Given the description of an element on the screen output the (x, y) to click on. 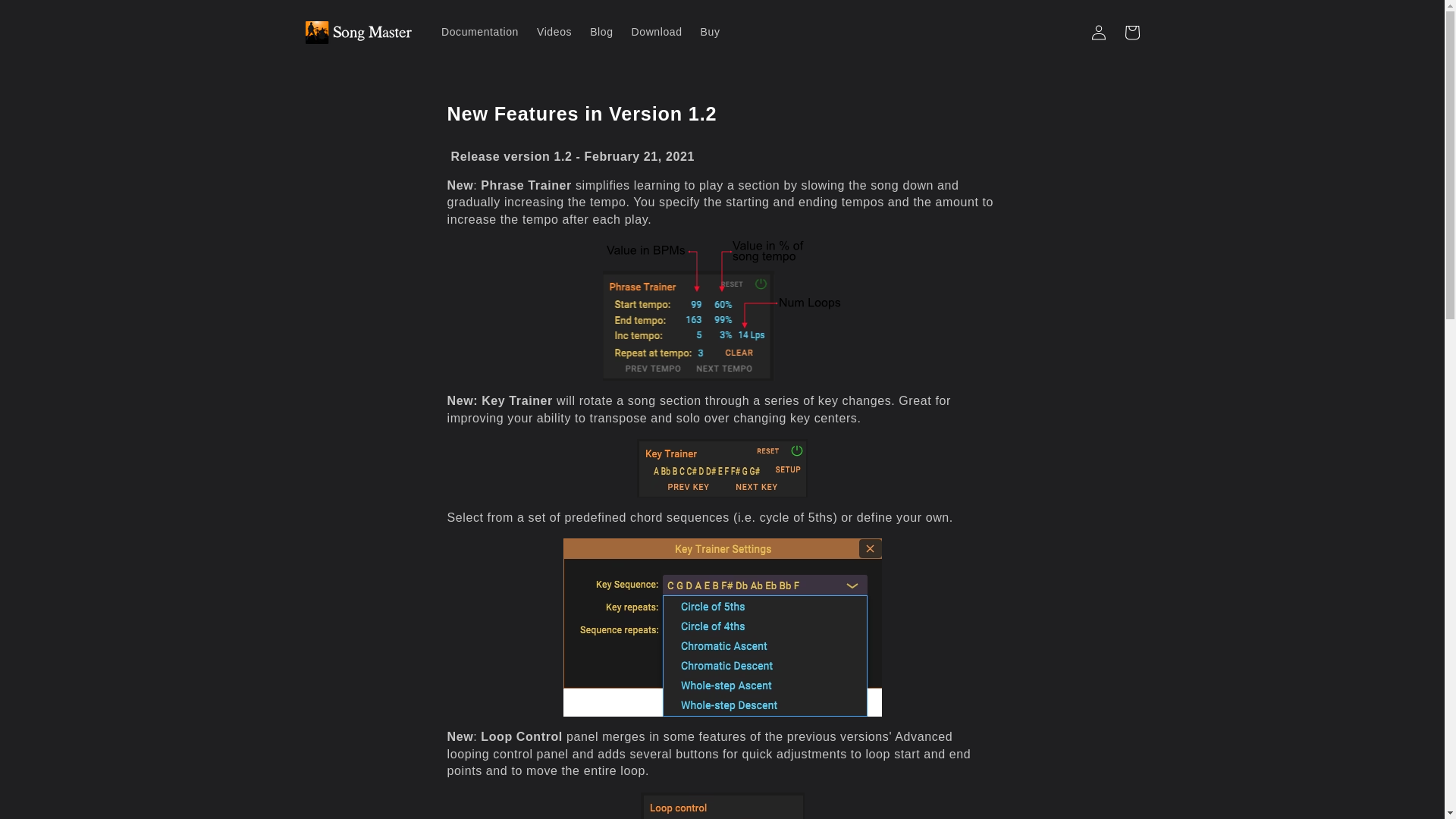
Log in (1098, 31)
Documentation (479, 31)
Skip to content (46, 18)
Cart (1131, 31)
Videos (553, 31)
Download (657, 31)
Buy (710, 31)
Blog (600, 31)
